Given the description of an element on the screen output the (x, y) to click on. 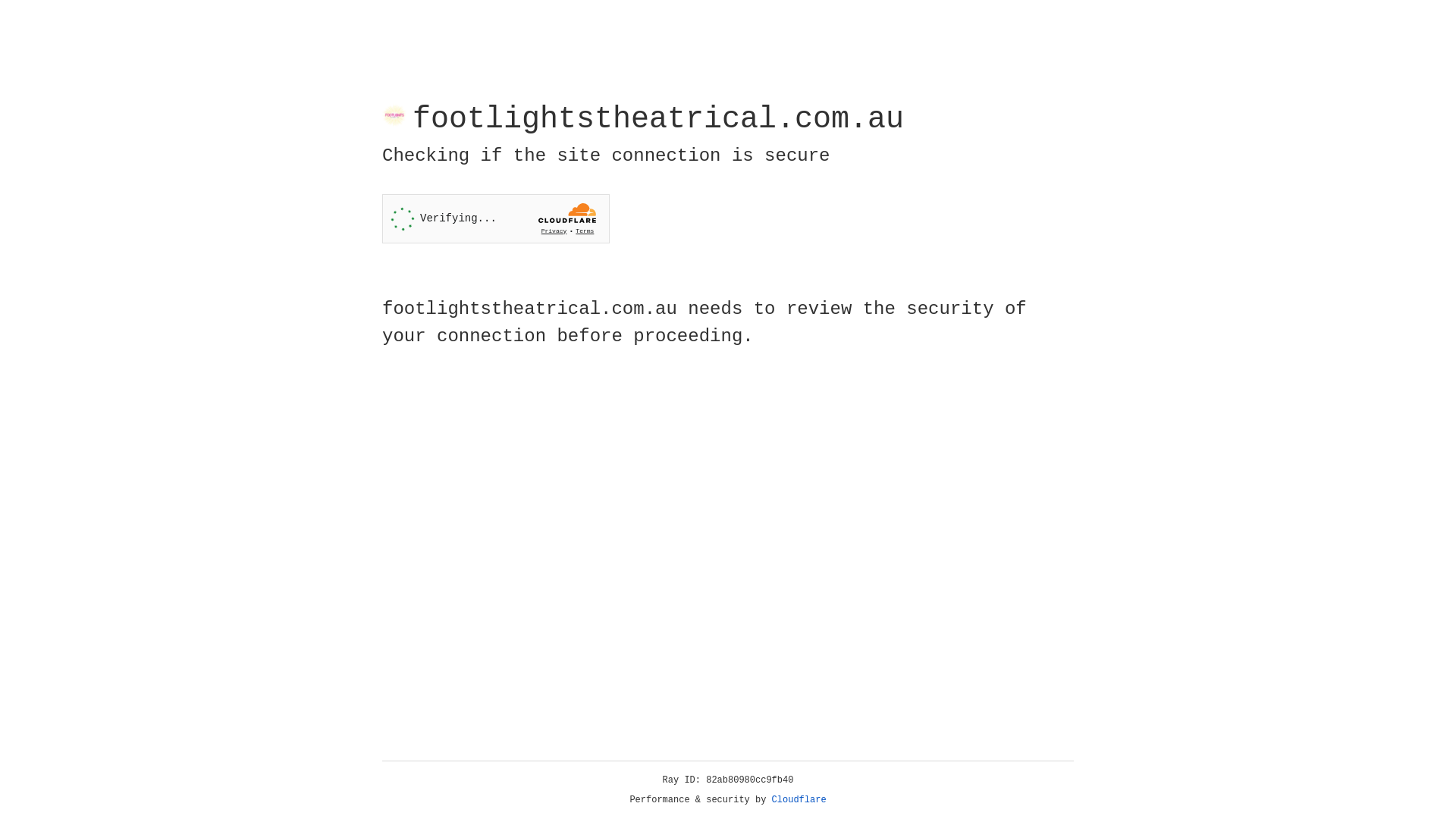
Cloudflare Element type: text (798, 799)
Widget containing a Cloudflare security challenge Element type: hover (495, 218)
